Given the description of an element on the screen output the (x, y) to click on. 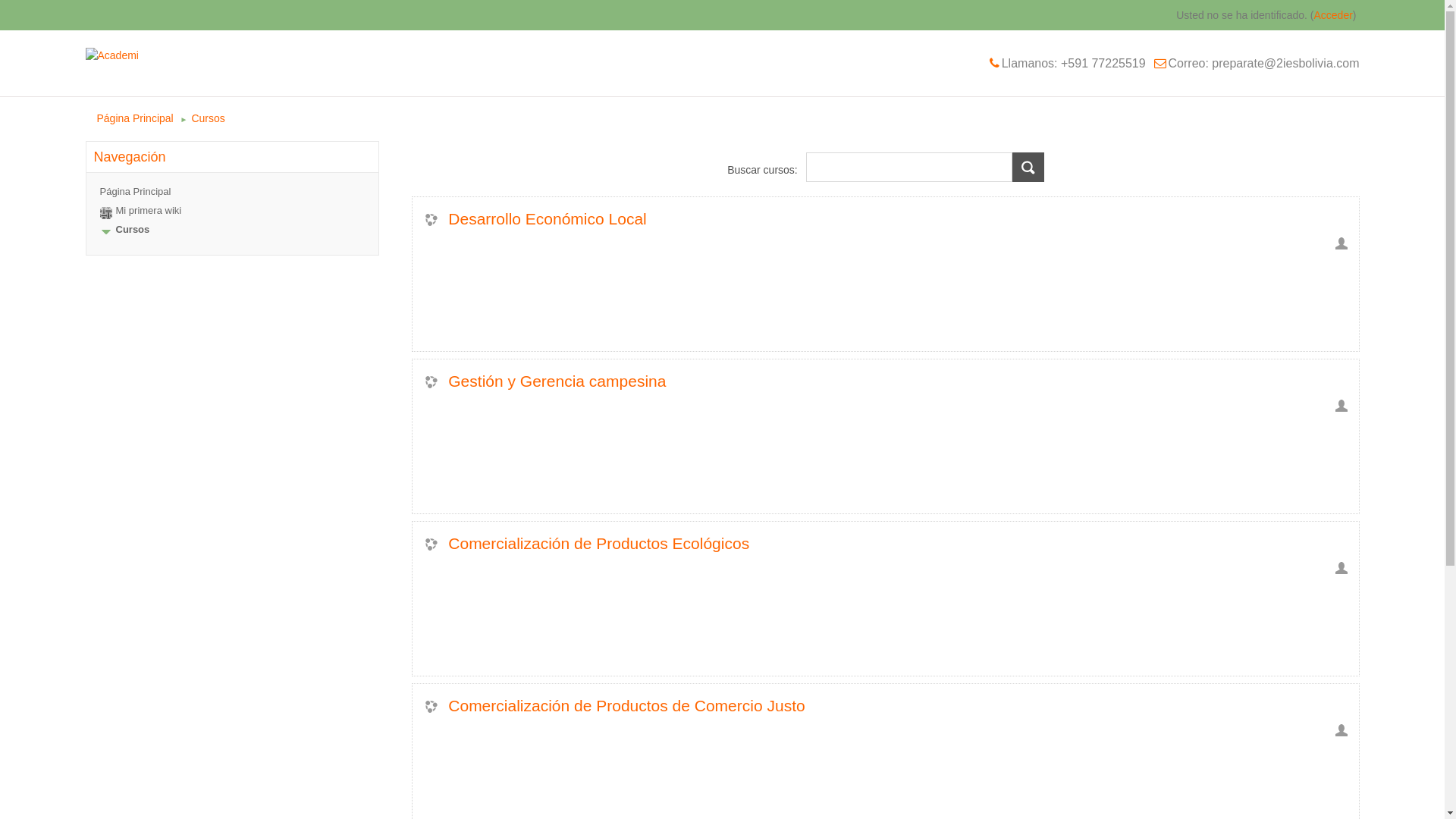
Acceder Element type: text (1332, 15)
Cursos Element type: text (207, 118)
Mi primera wiki Element type: text (148, 210)
Acceso de invitados Element type: hover (1341, 405)
Acceso de invitados Element type: hover (1341, 567)
Wiki Element type: hover (106, 213)
Cursos Element type: text (132, 229)
Ir Element type: text (1028, 167)
Acceso de invitados Element type: hover (1341, 243)
Acceso de invitados Element type: hover (1341, 730)
